Given the description of an element on the screen output the (x, y) to click on. 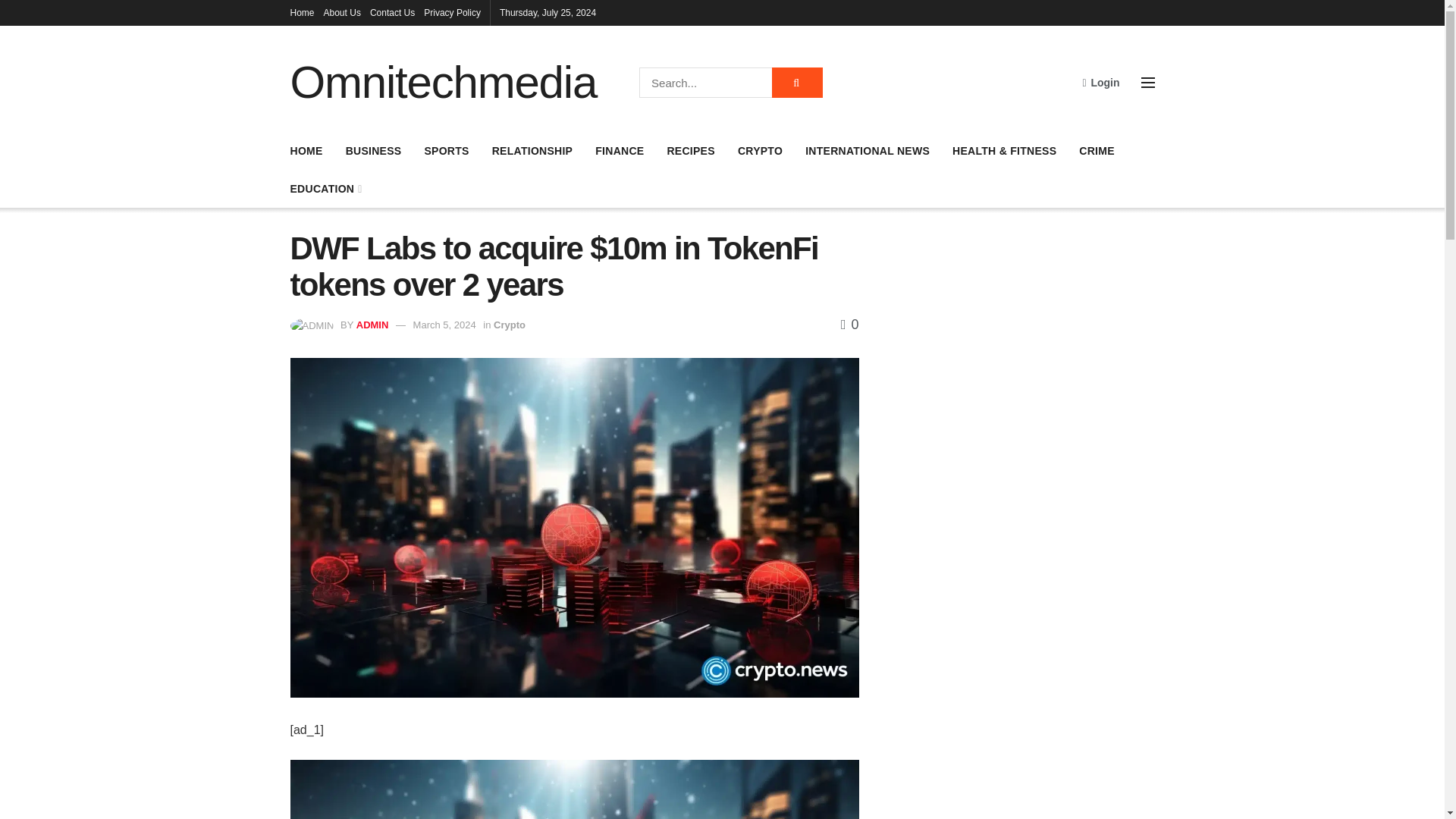
INTERNATIONAL NEWS (867, 150)
Contact Us (391, 12)
FINANCE (619, 150)
RECIPES (690, 150)
Home (301, 12)
Login (1100, 82)
EDUCATION (324, 188)
CRIME (1096, 150)
CRYPTO (760, 150)
About Us (342, 12)
BUSINESS (373, 150)
HOME (305, 150)
Privacy Policy (451, 12)
RELATIONSHIP (532, 150)
Omnitechmedia (442, 82)
